Given the description of an element on the screen output the (x, y) to click on. 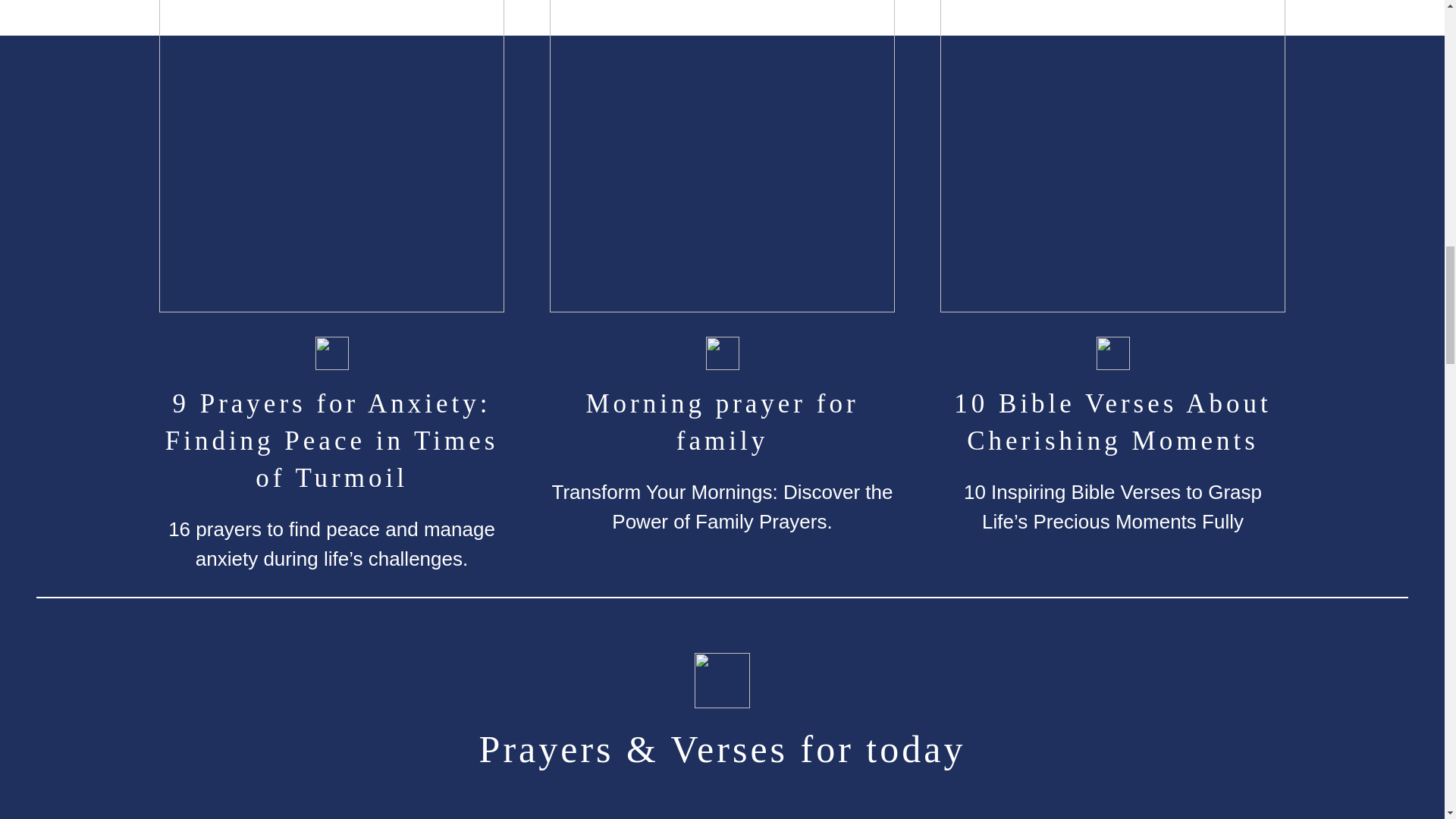
10 Bible Verses About Cherishing Moments (1112, 421)
Morning prayer for family (722, 421)
9 Prayers for Anxiety: Finding Peace in Times of Turmoil (330, 440)
